Given the description of an element on the screen output the (x, y) to click on. 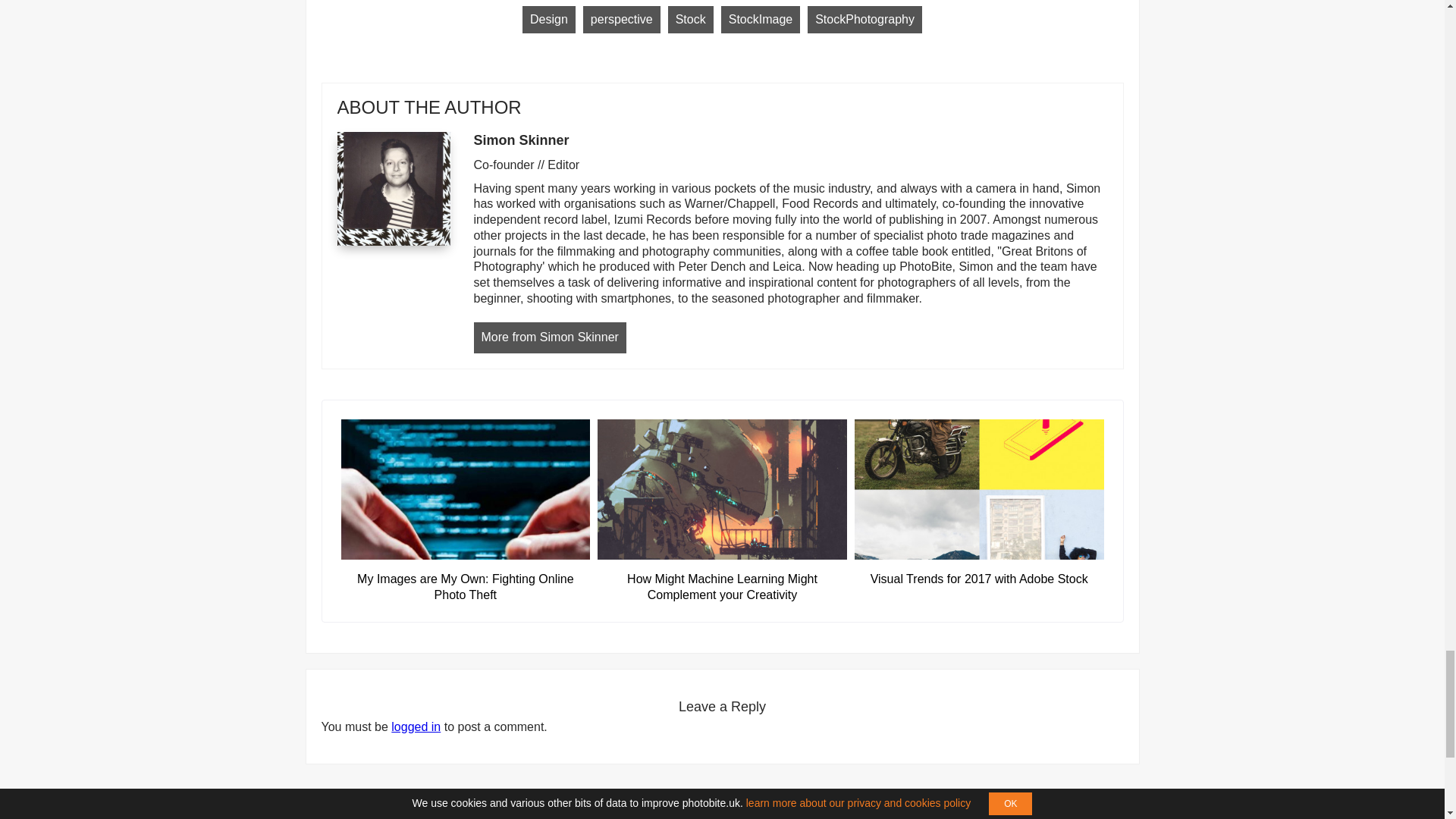
How Might Machine Learning Might Complement your Creativity (721, 579)
My Images are My Own: Fighting Online Photo Theft (465, 579)
Visual Trends for 2017 with Adobe Stock (978, 572)
